Given the description of an element on the screen output the (x, y) to click on. 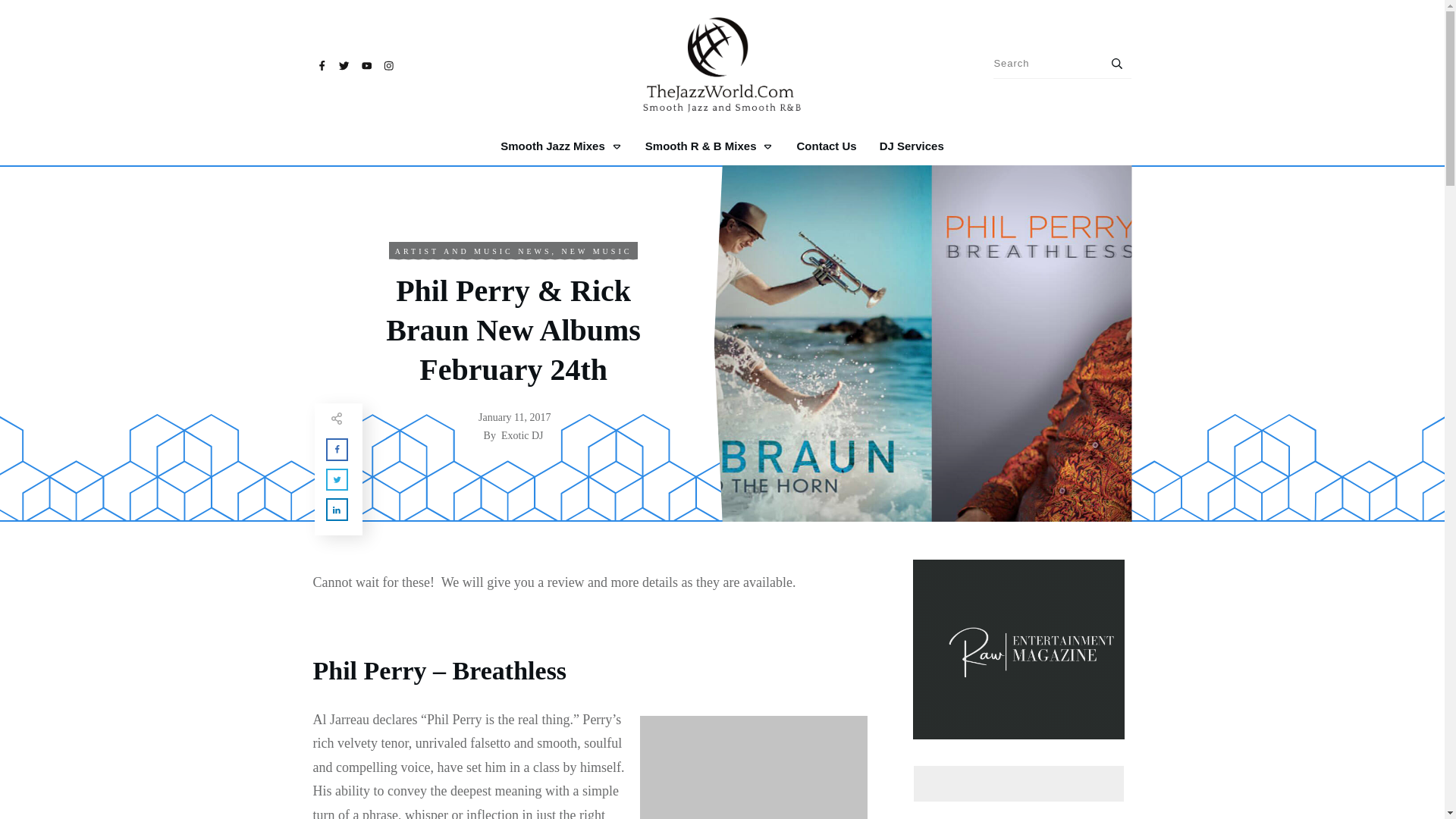
Contact Us (826, 146)
Smooth Jazz Mixes (561, 146)
DJ Services (911, 146)
